Given the description of an element on the screen output the (x, y) to click on. 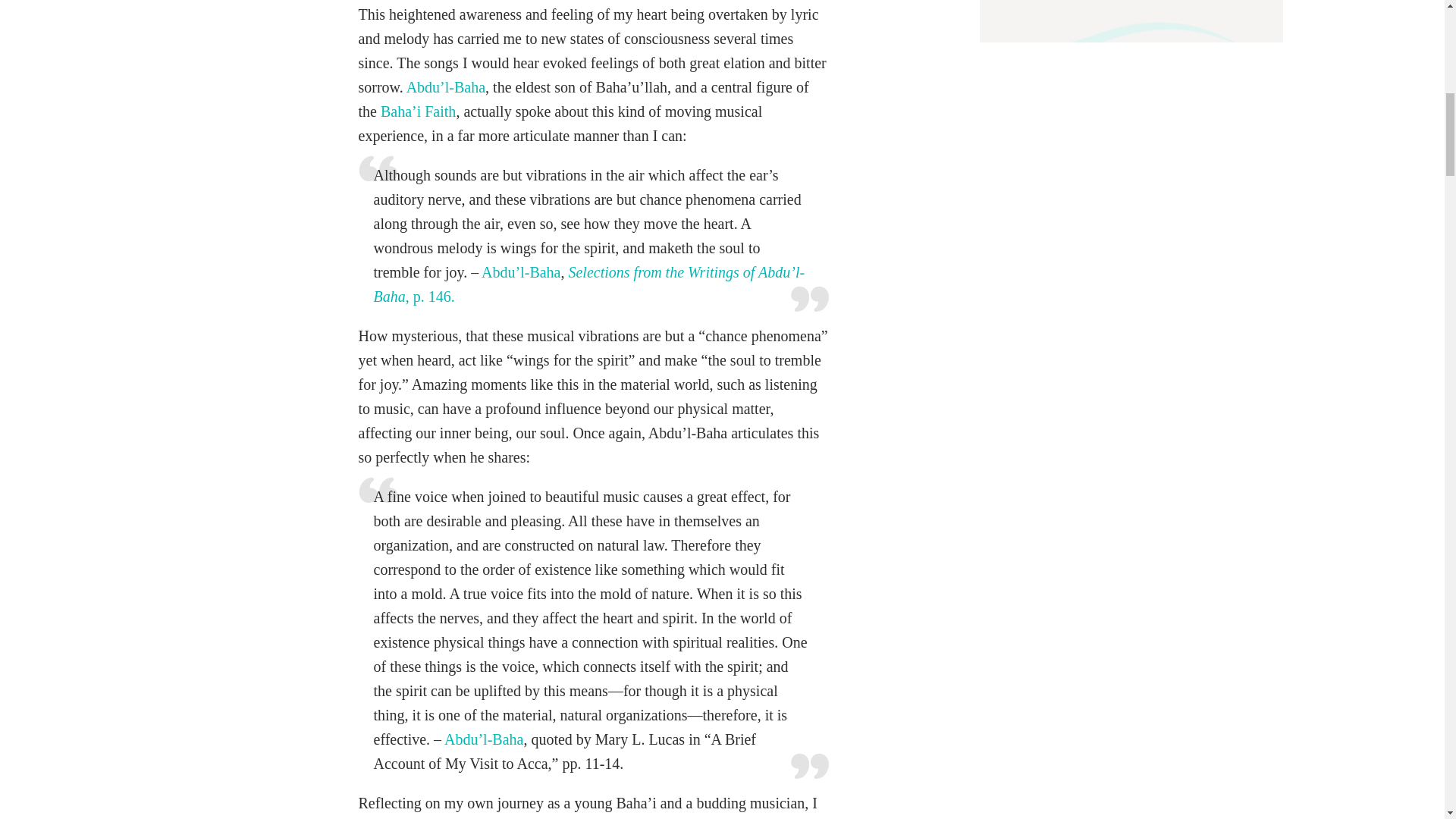
SIGN UP (1176, 2)
Faith (437, 111)
